Given the description of an element on the screen output the (x, y) to click on. 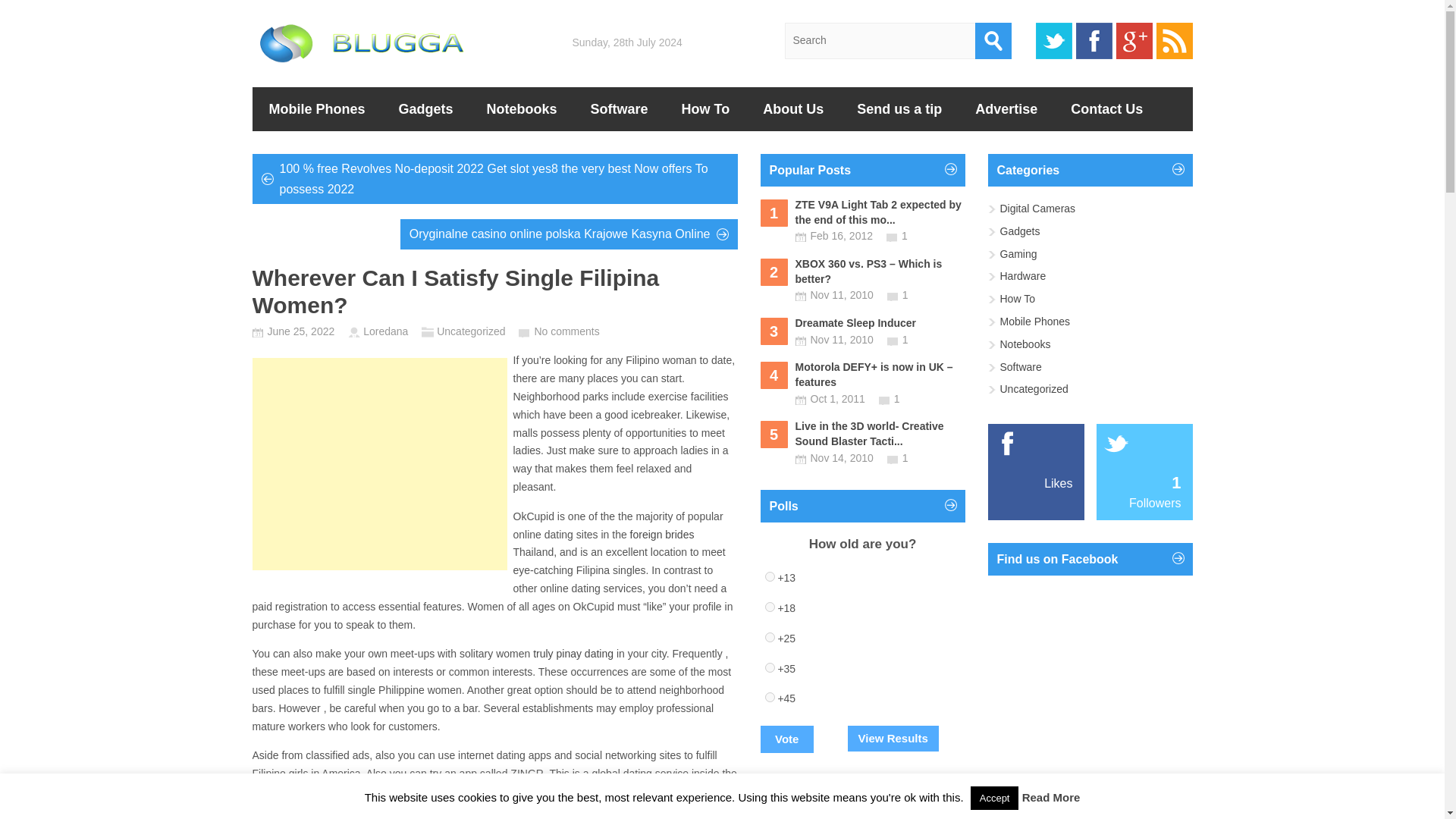
Mobile Phones (316, 108)
truly pinay dating (572, 653)
16 (769, 637)
Notebooks (521, 108)
15 (769, 606)
18 (769, 696)
View Results Of This Poll (893, 738)
Posts by Loredana (384, 331)
Contact Us (1106, 108)
How To (705, 108)
Gadgets (425, 108)
foreign brides (662, 534)
Search (993, 40)
Search (993, 40)
